Given the description of an element on the screen output the (x, y) to click on. 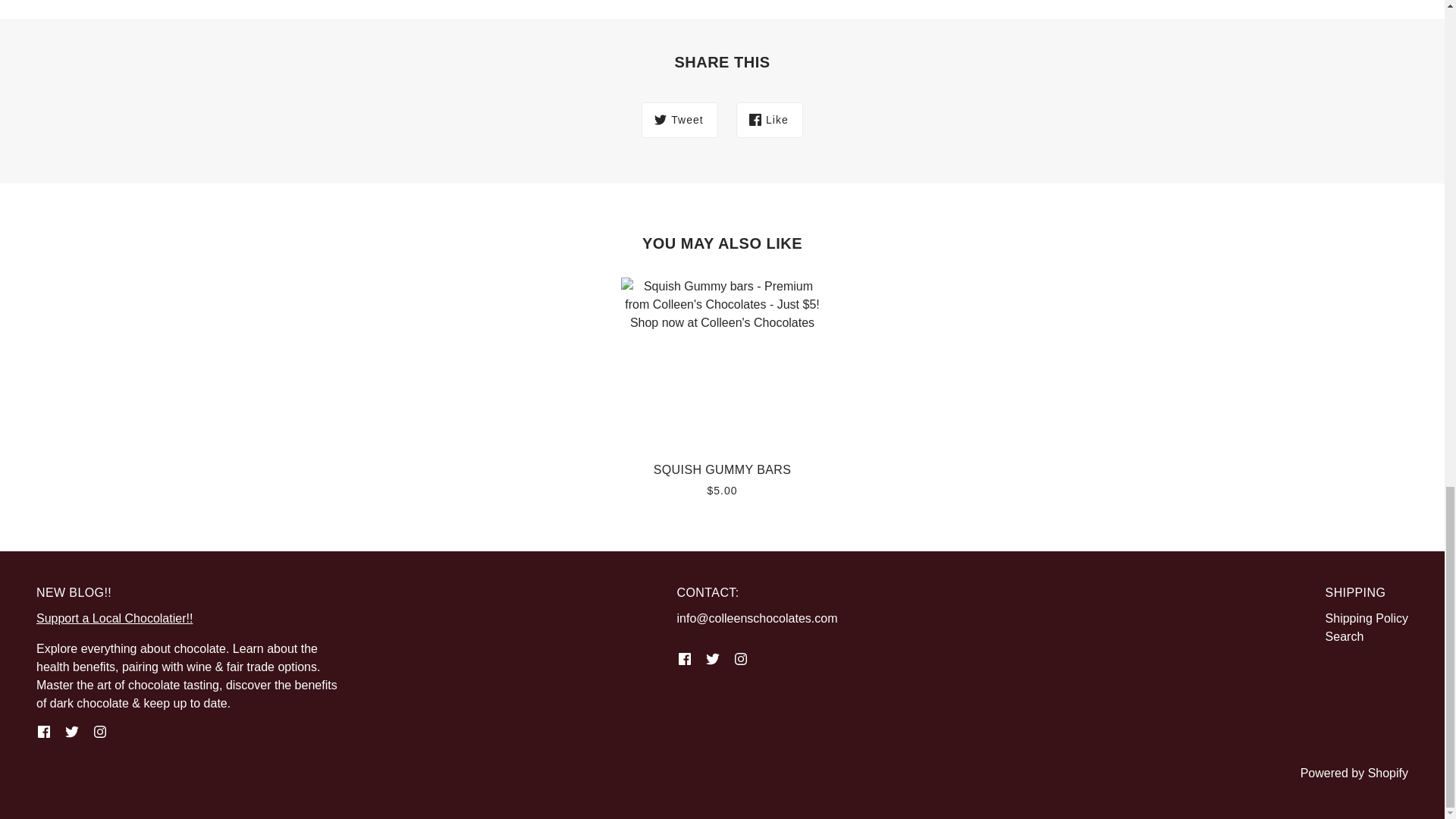
Shipping Policy (1365, 617)
Blogolate (114, 617)
Search (1344, 635)
